Given the description of an element on the screen output the (x, y) to click on. 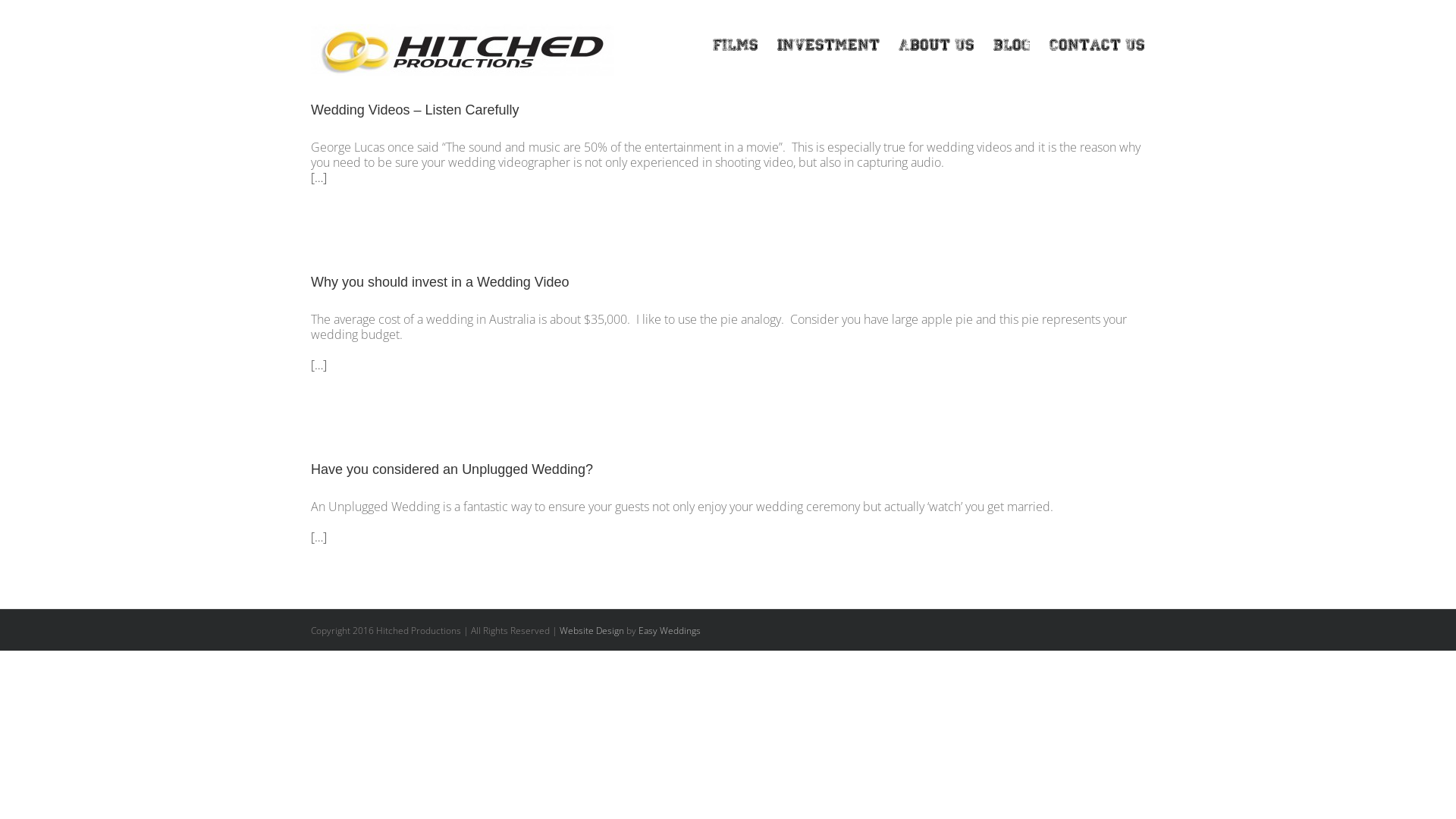
About Us Element type: text (936, 45)
Films Element type: text (735, 45)
Why you should invest in a Wedding Video Element type: text (439, 281)
Easy Weddings Element type: text (669, 630)
Have you considered an Unplugged Wedding? Element type: text (451, 468)
Contact Us Element type: text (1097, 45)
Website Design Element type: text (591, 630)
Blog Element type: text (1011, 45)
Investment Element type: text (828, 45)
